Given the description of an element on the screen output the (x, y) to click on. 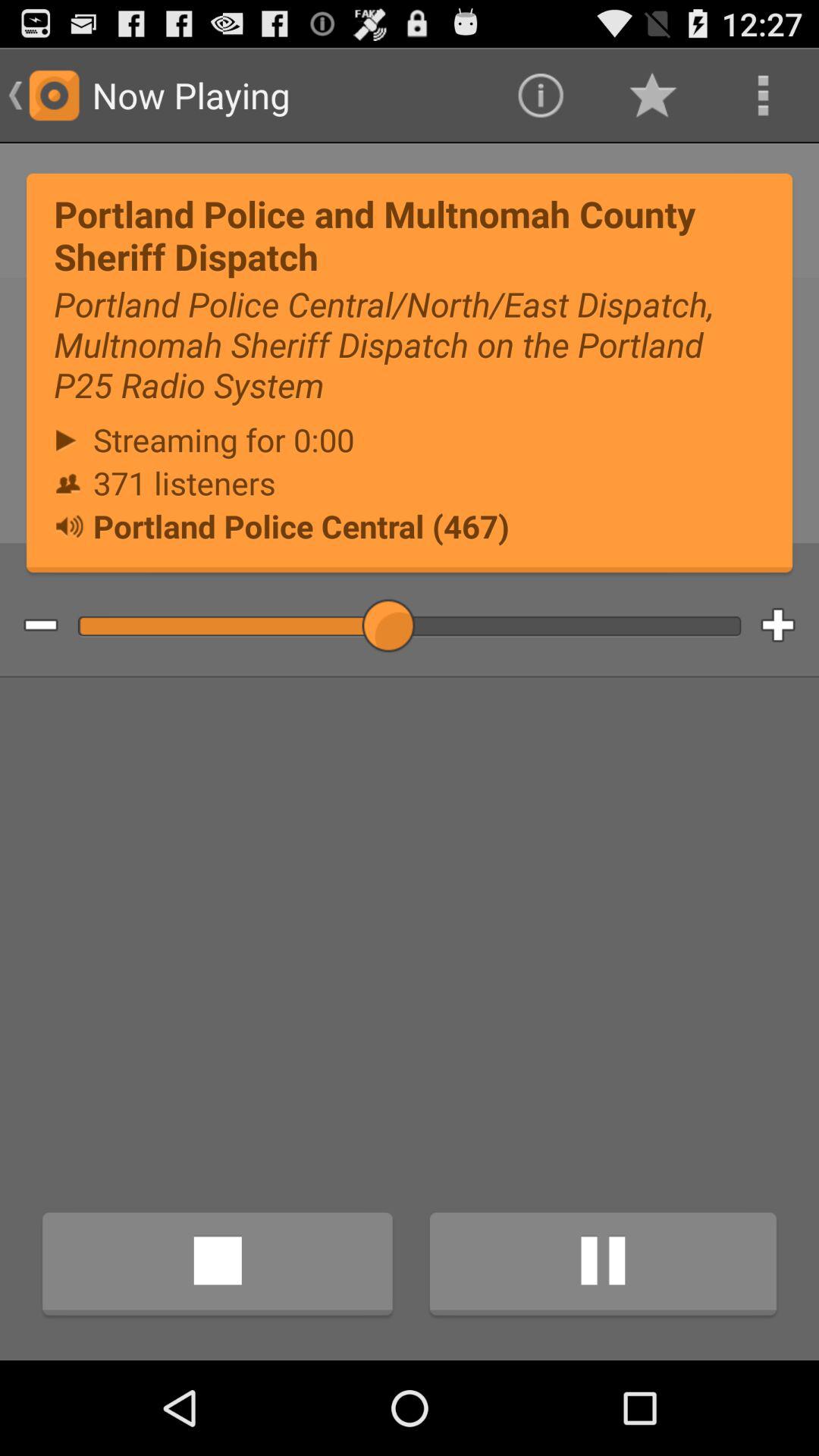
decrease the volume (29, 626)
